Given the description of an element on the screen output the (x, y) to click on. 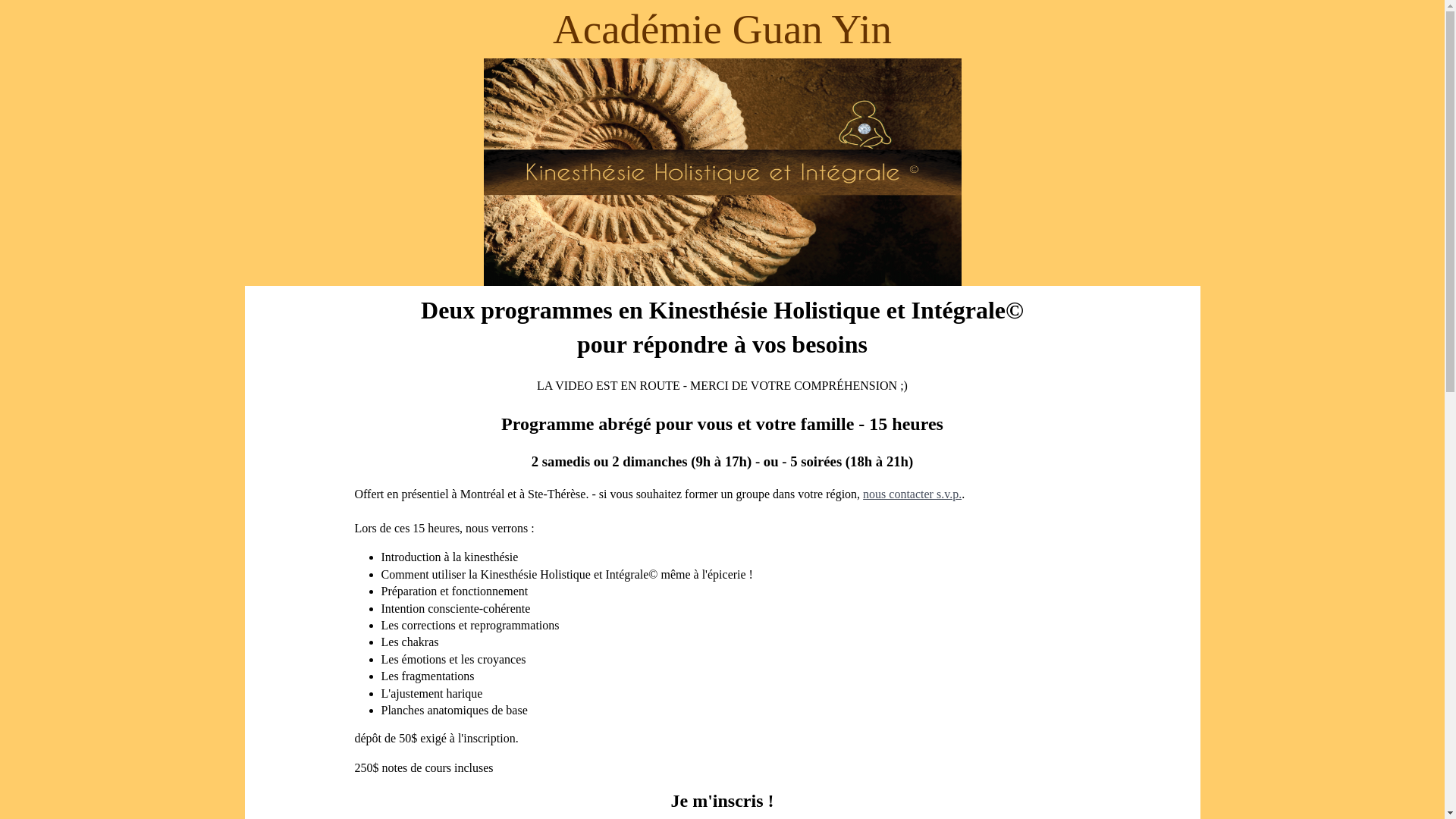
nous contacter s.v.p. Element type: text (911, 493)
